Given the description of an element on the screen output the (x, y) to click on. 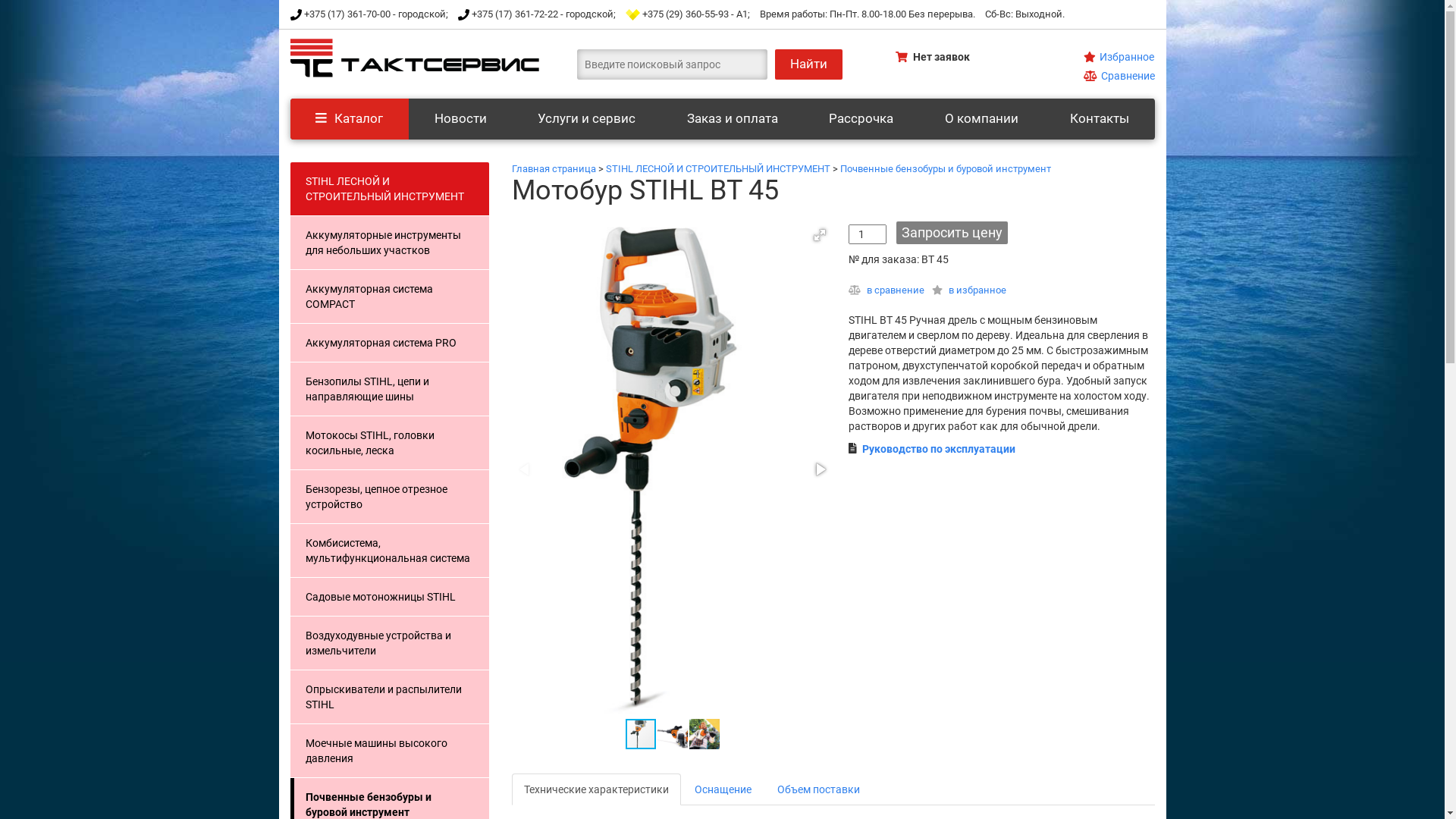
+375 (17) 361-70-00 Element type: text (346, 13)
+375 (17) 361-72-22 Element type: text (514, 13)
+375 (29) 360-55-93 Element type: text (685, 13)
